Given the description of an element on the screen output the (x, y) to click on. 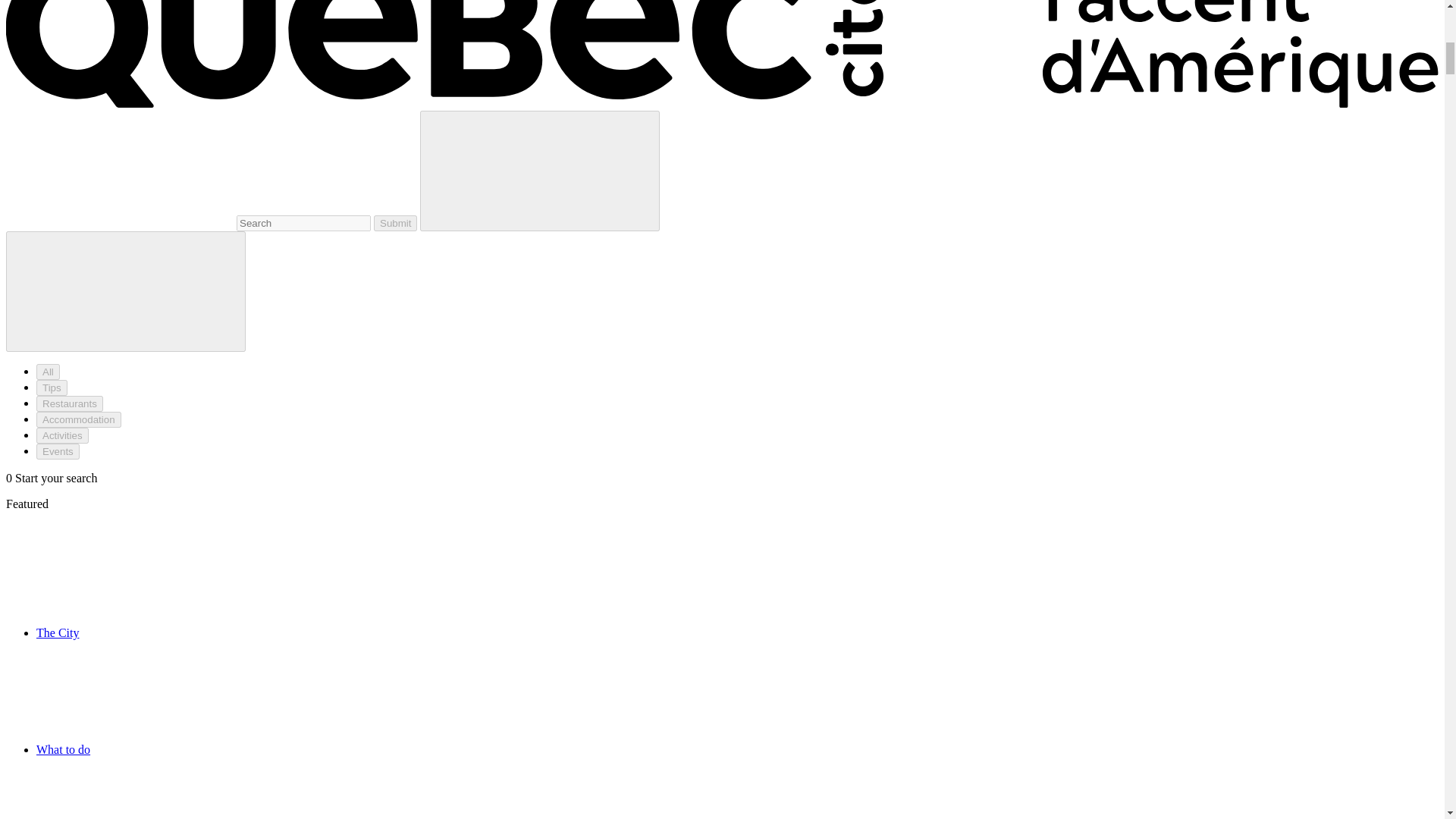
Events (58, 451)
What to do (176, 748)
Activities (62, 435)
Submit (395, 222)
Submit (395, 222)
Accommodation (78, 419)
Restaurants (69, 403)
All (47, 371)
The City (170, 632)
Tips (51, 387)
